Given the description of an element on the screen output the (x, y) to click on. 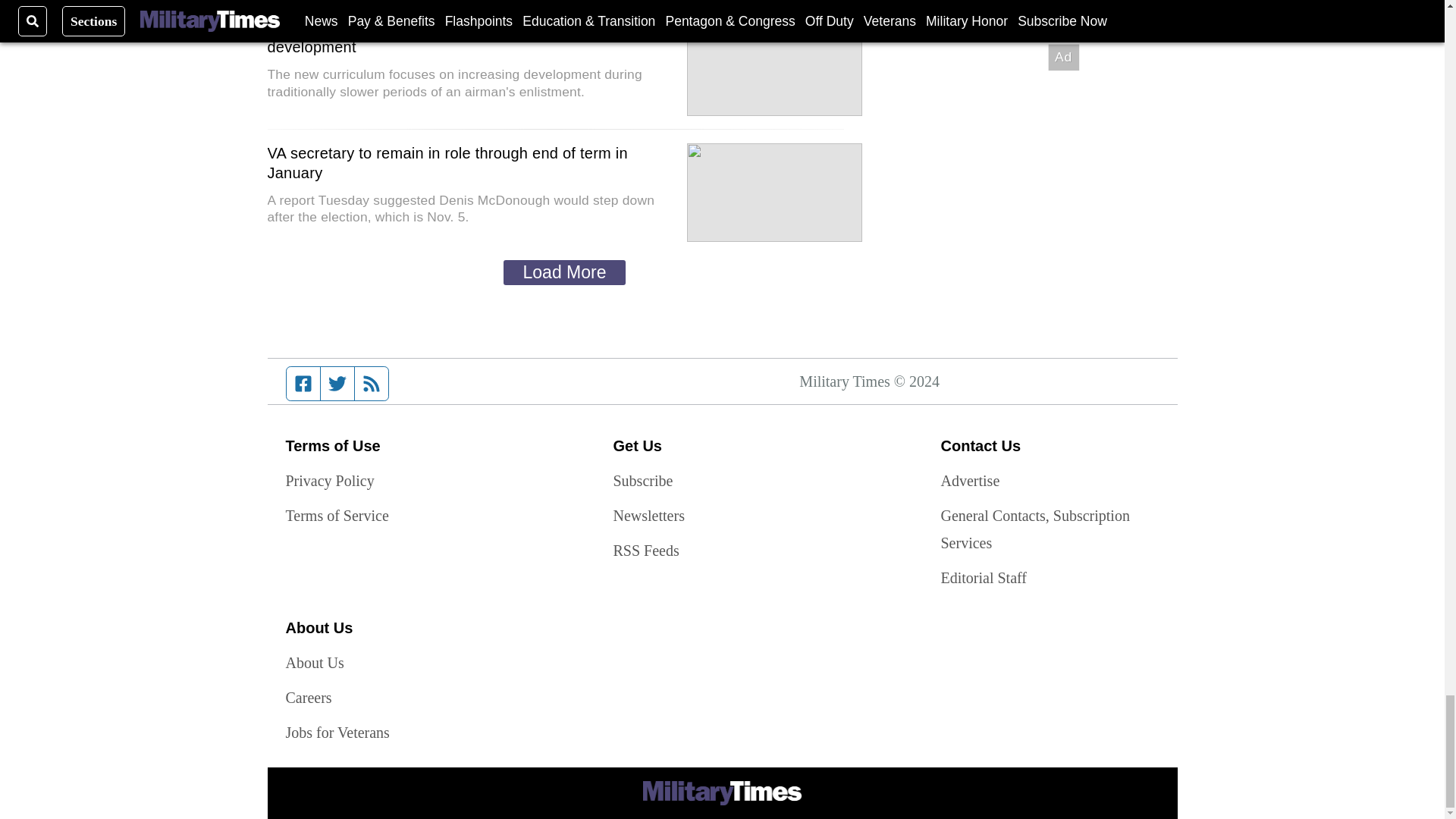
Facebook page (303, 383)
RSS feed (371, 383)
Twitter feed (336, 383)
